Given the description of an element on the screen output the (x, y) to click on. 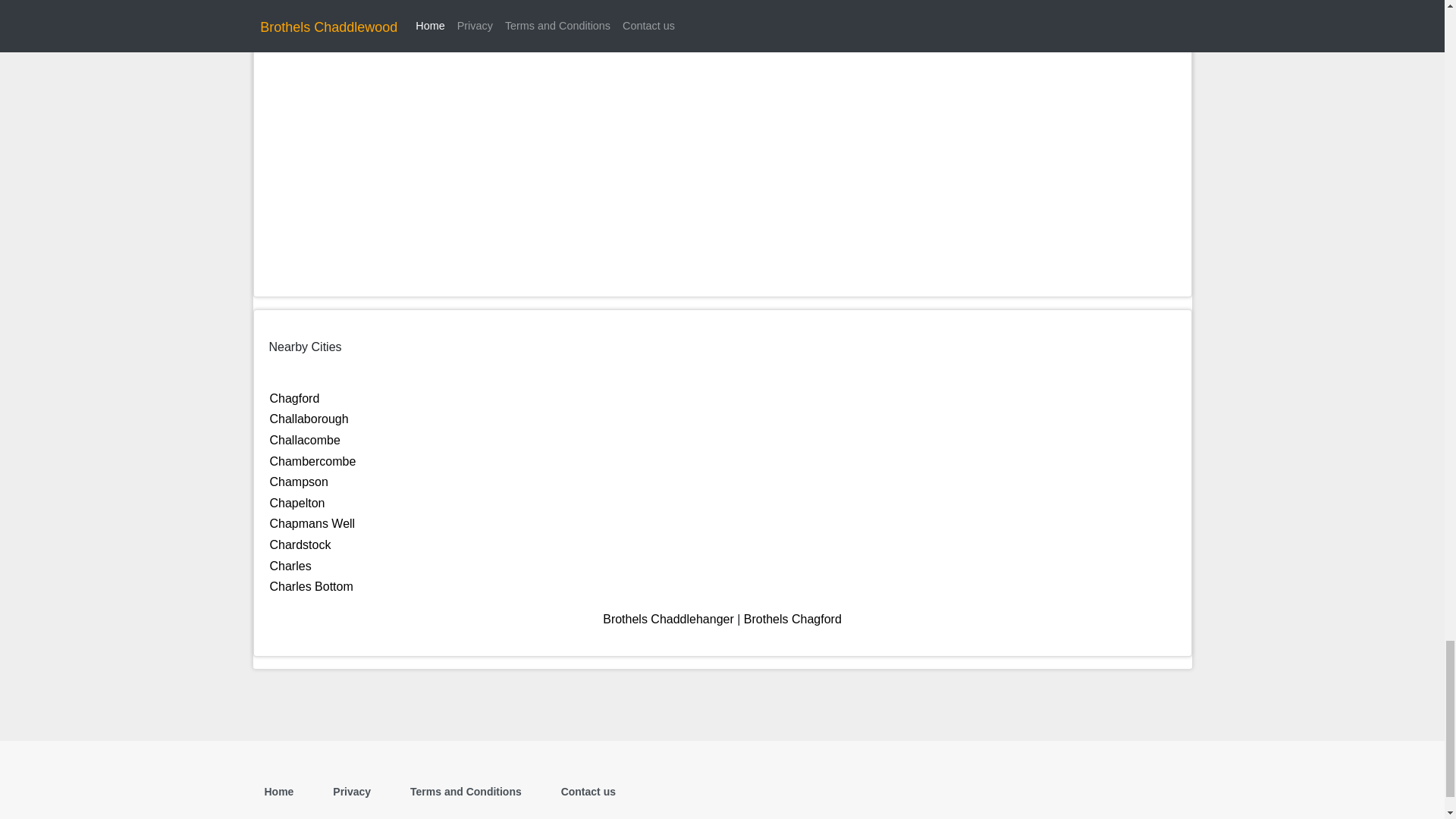
Chagford (294, 398)
Brothels Chaddlehanger (667, 618)
Chapelton (296, 502)
Chapmans Well (312, 522)
Champson (299, 481)
Challaborough (309, 418)
Charles (290, 565)
Brothels Chagford (792, 618)
Charles Bottom (311, 585)
Chambercombe (312, 461)
